Given the description of an element on the screen output the (x, y) to click on. 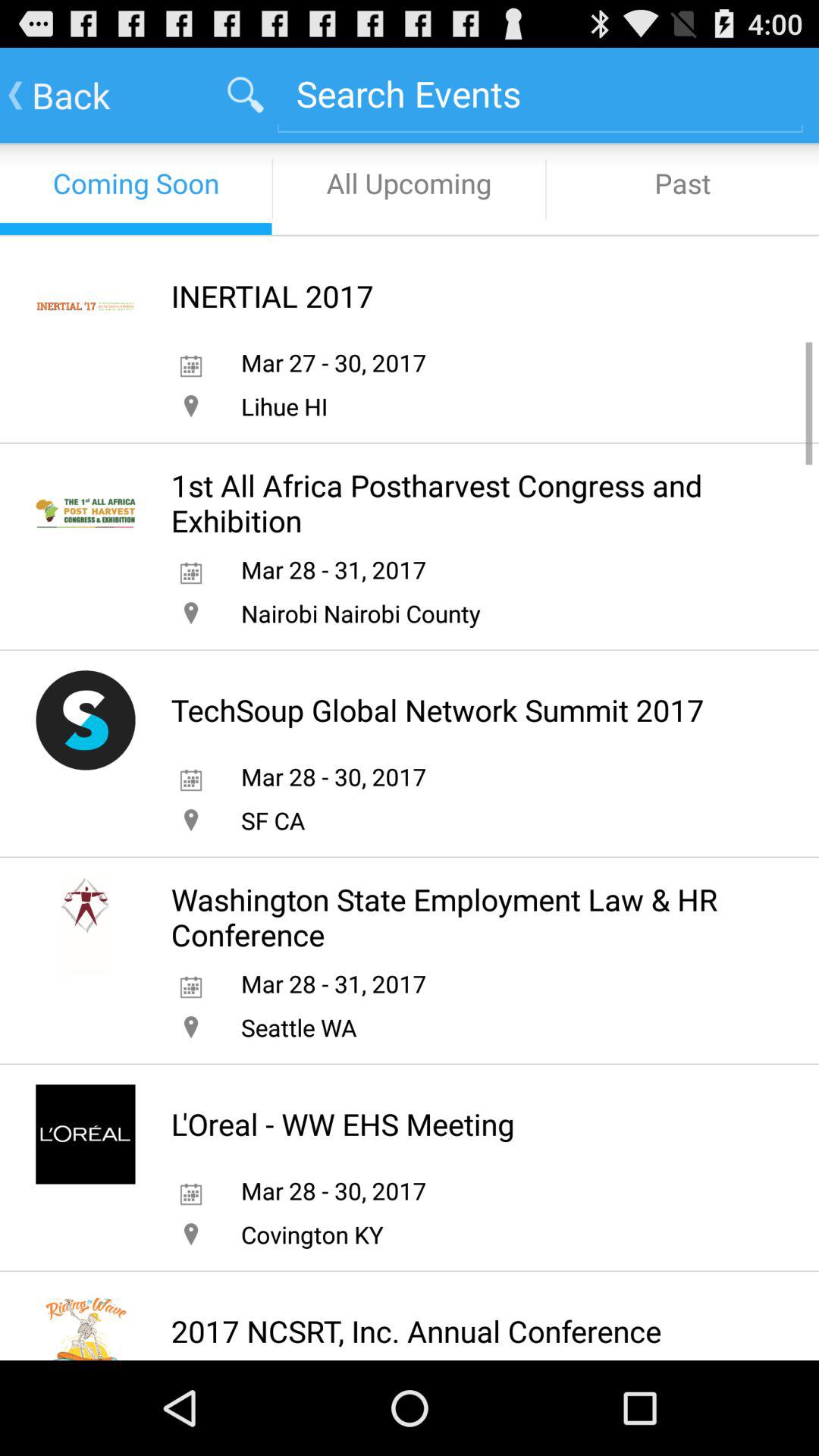
turn off the 1st all africa item (463, 502)
